Given the description of an element on the screen output the (x, y) to click on. 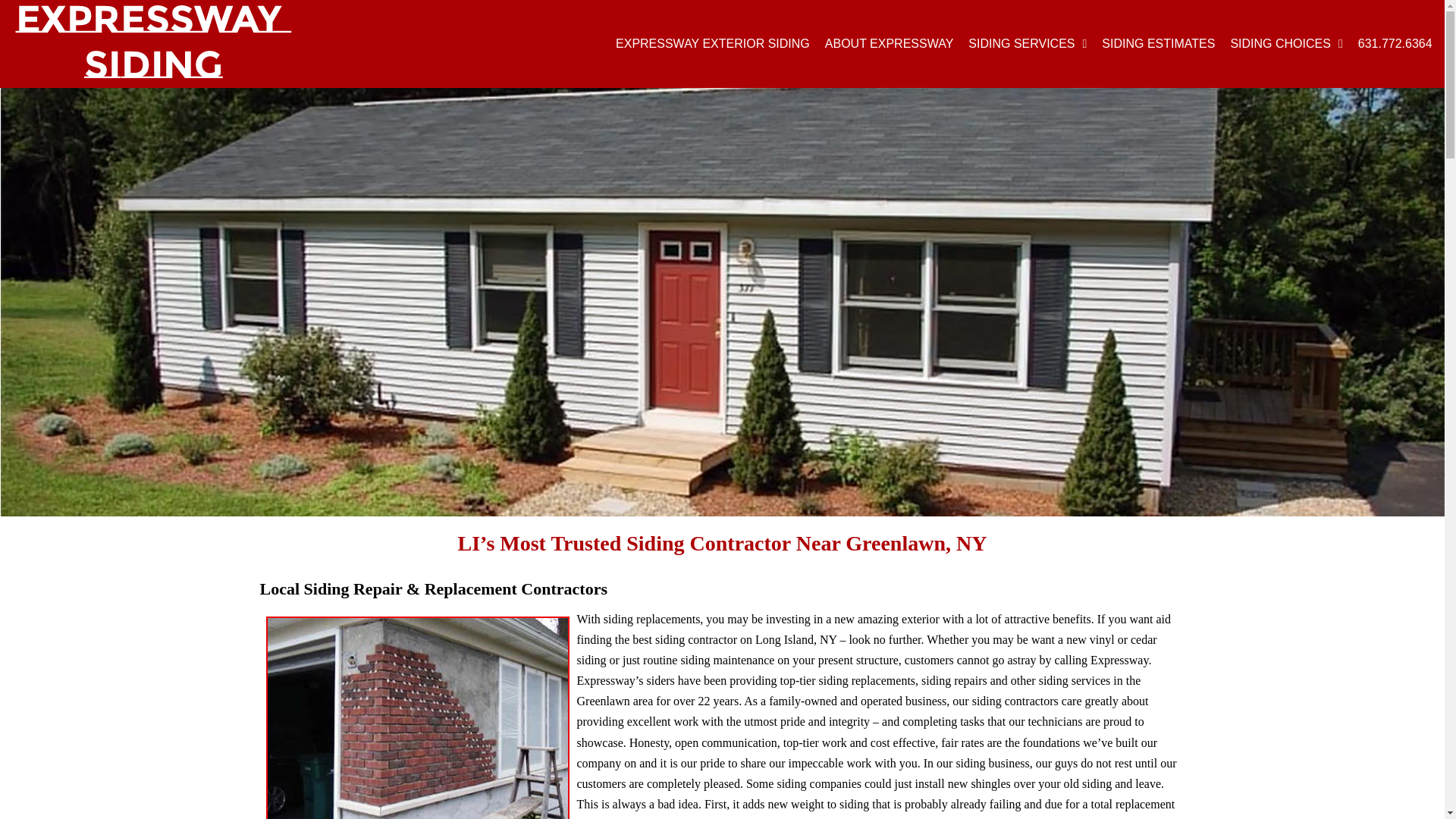
ABOUT EXPRESSWAY (888, 43)
SIDING ESTIMATES (1158, 43)
EXPRESSWAY EXTERIOR SIDING (712, 43)
631.772.6364 (1395, 43)
SIDING SERVICES (1027, 43)
SIDING CHOICES (1286, 43)
